Given the description of an element on the screen output the (x, y) to click on. 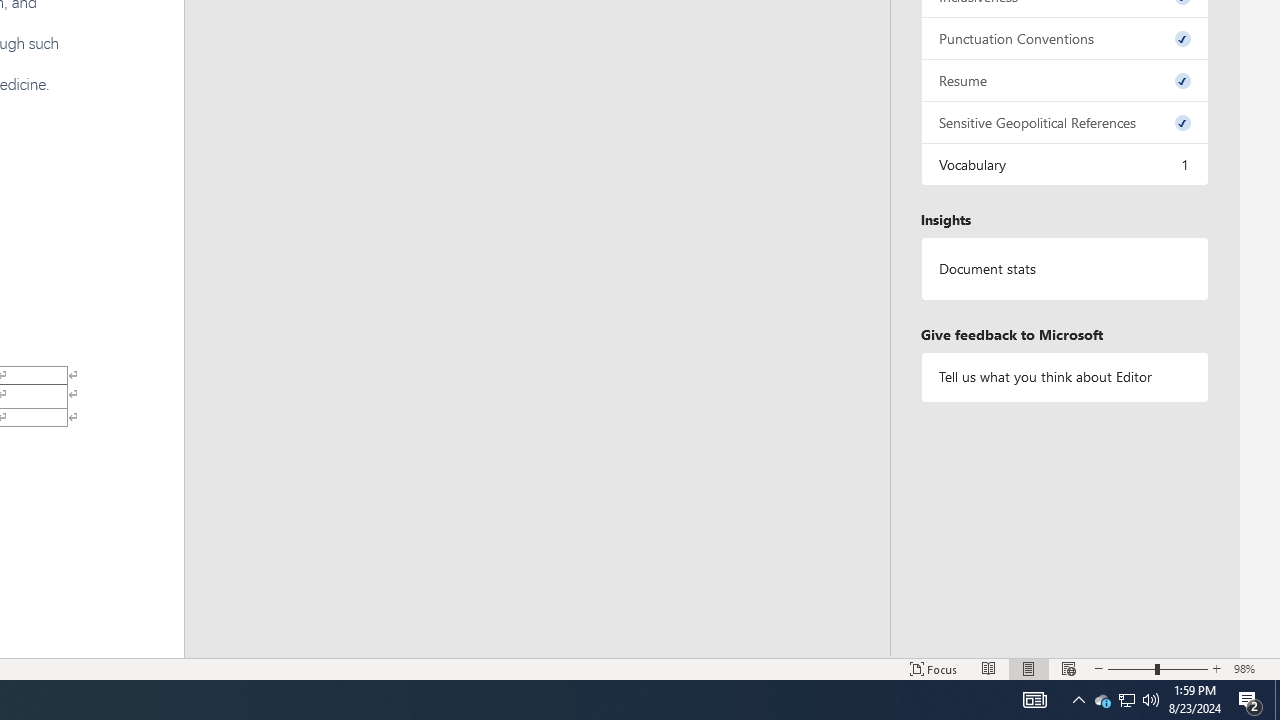
Tell us what you think about Editor (1064, 376)
Resume, 0 issues. Press space or enter to review items. (1064, 79)
Vocabulary, 1 issue. Press space or enter to review items. (1064, 164)
Document statistics (1064, 269)
